Given the description of an element on the screen output the (x, y) to click on. 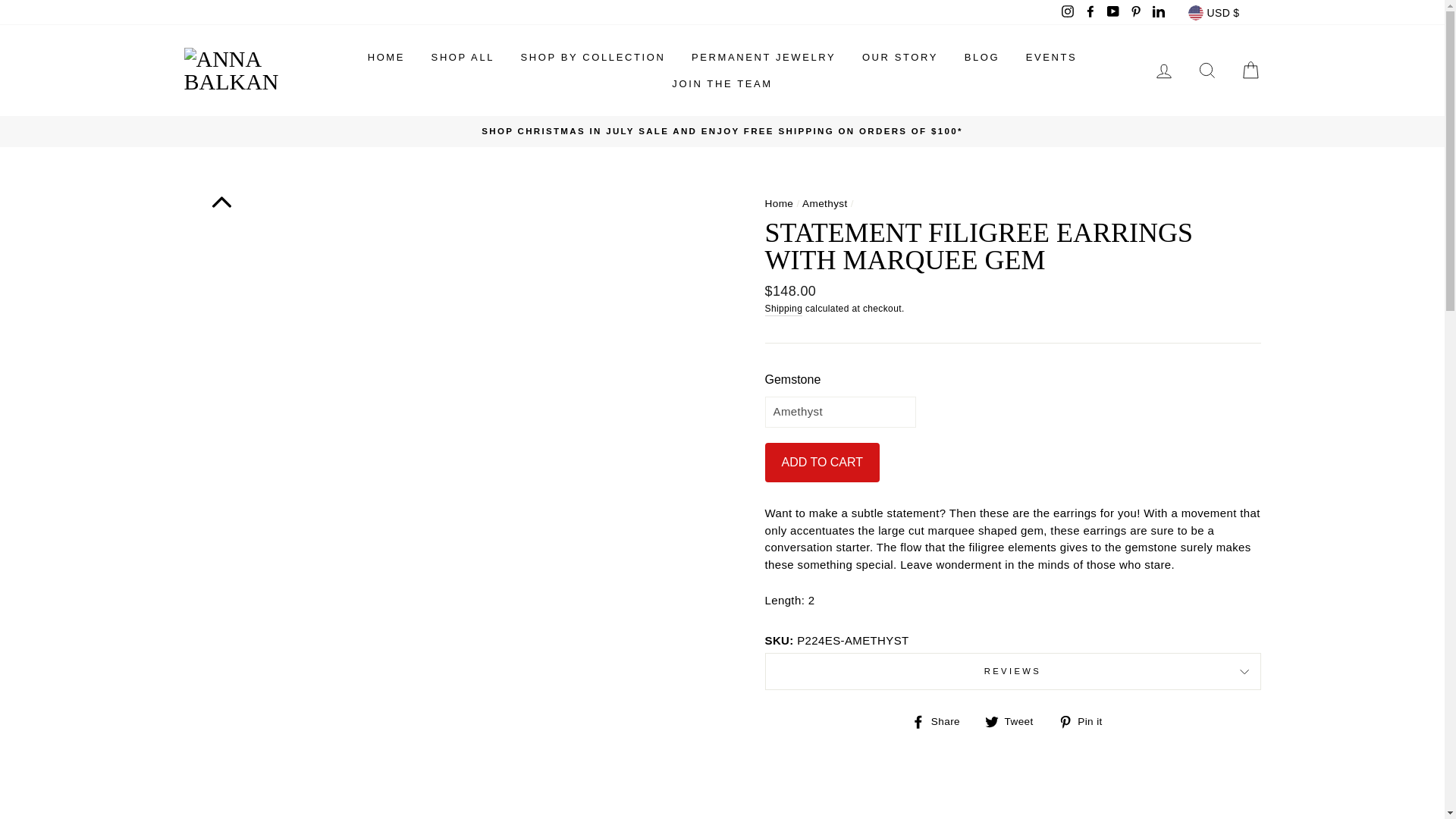
Pin on Pinterest (1085, 721)
Tweet on Twitter (1015, 721)
Share on Facebook (941, 721)
Back to the frontpage (778, 203)
